Given the description of an element on the screen output the (x, y) to click on. 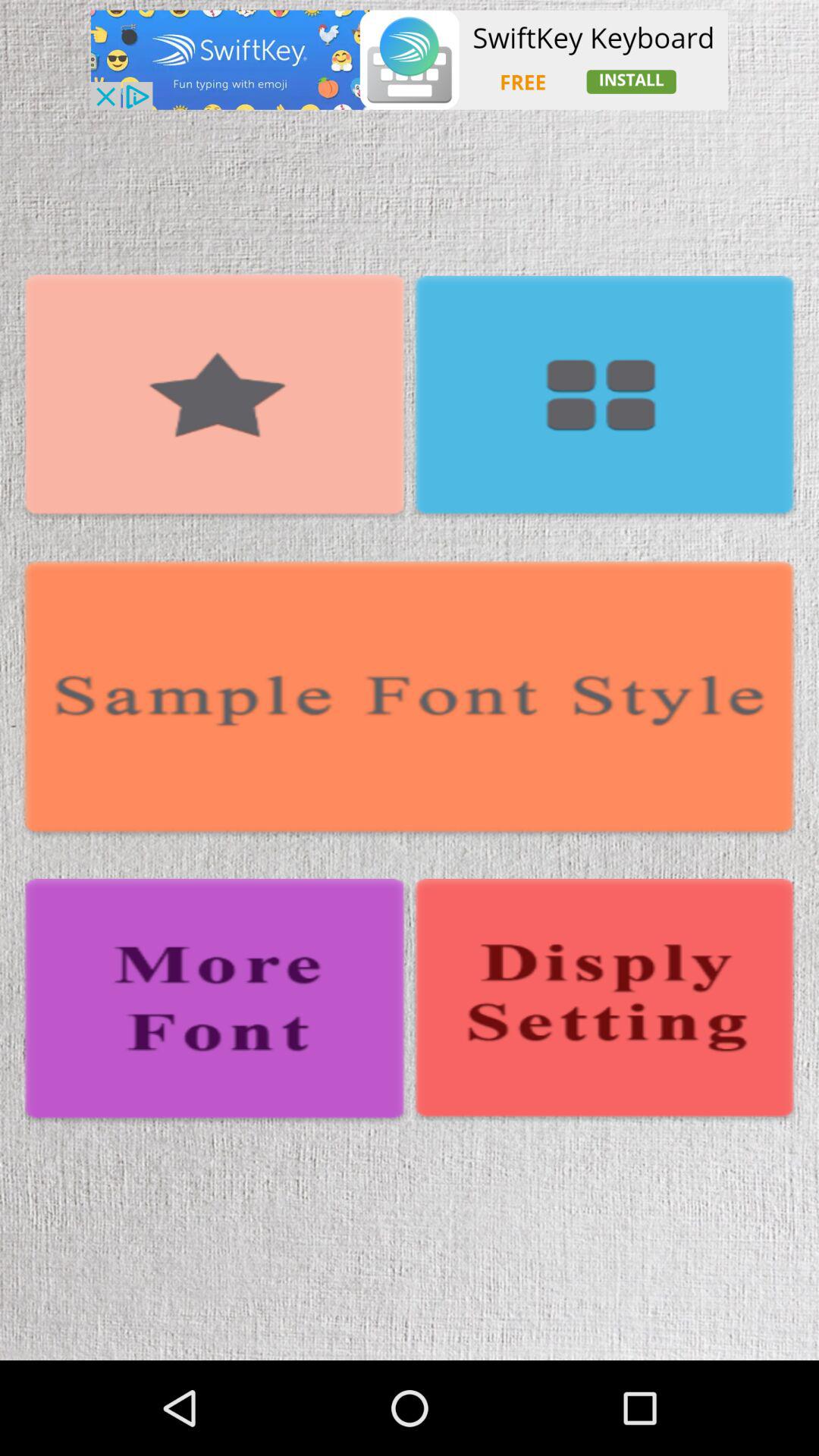
open display settings (604, 1000)
